Given the description of an element on the screen output the (x, y) to click on. 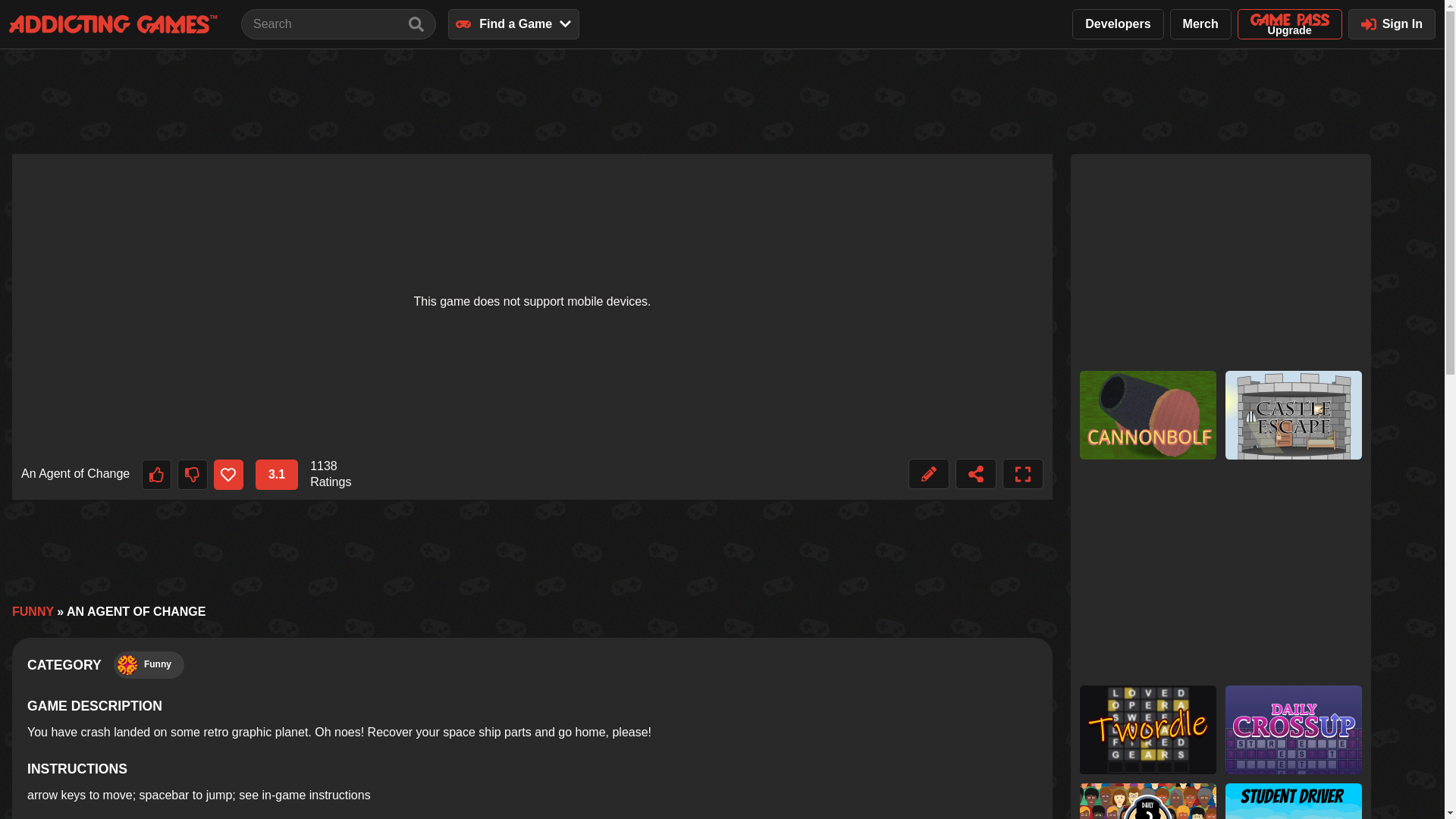
3.1 (277, 474)
Developers (1117, 24)
Remove ads and play games faster! (532, 417)
Play Now (572, 323)
Sign In (1391, 24)
Merch (1200, 24)
FUNNY (32, 611)
Upgrade (1289, 24)
Funny (148, 664)
Find a Game (513, 24)
